Given the description of an element on the screen output the (x, y) to click on. 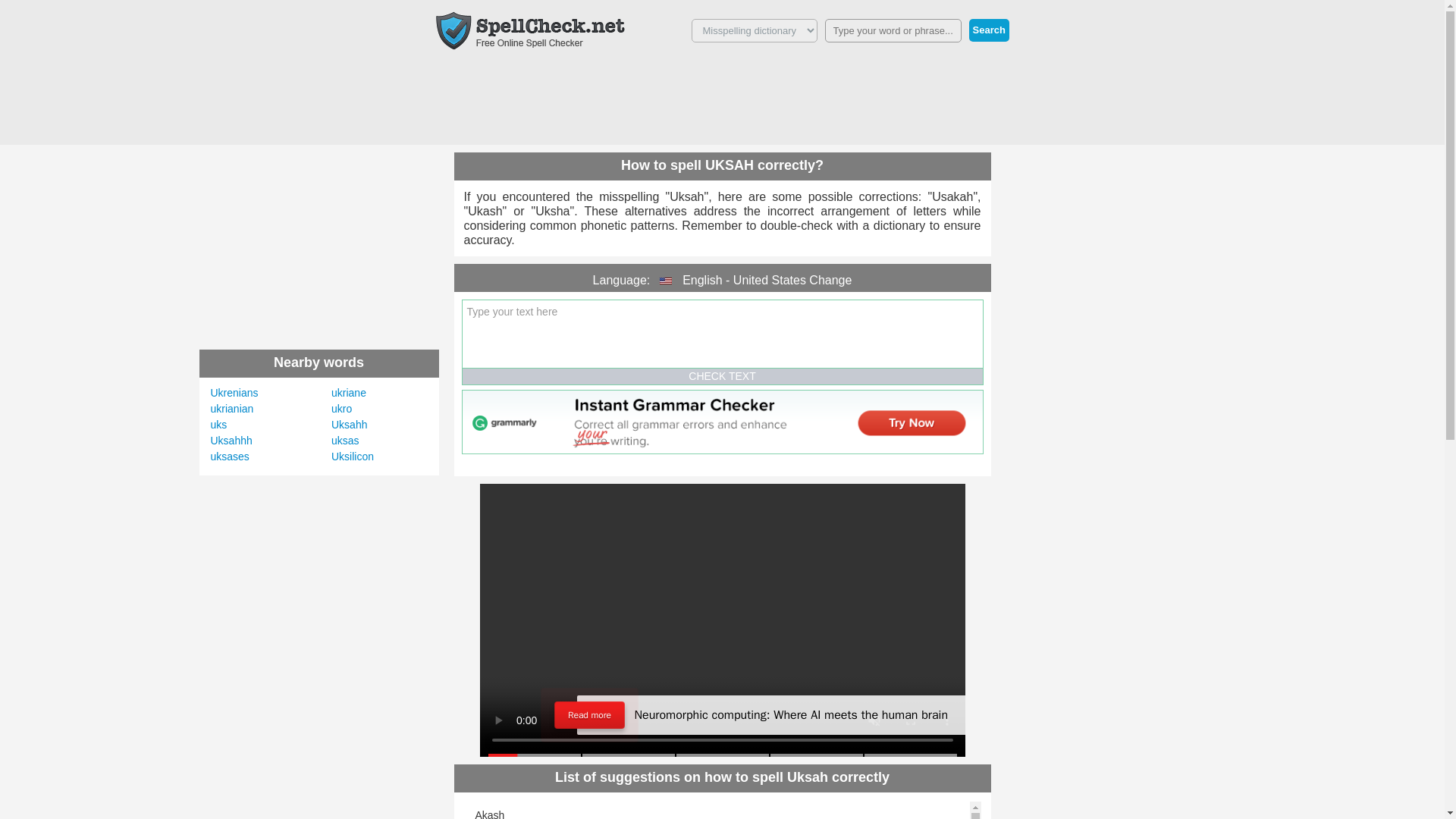
ukro (341, 408)
Ukrenians (235, 392)
ukriane (348, 392)
uksas (345, 440)
uks (219, 424)
Ukrenians (235, 392)
Change (830, 279)
Uksahh (348, 424)
Search (989, 29)
ukrianian (232, 408)
Spellcheck.net (529, 30)
Uksahhh (231, 440)
ukro (341, 408)
uks (219, 424)
uksases (229, 456)
